Given the description of an element on the screen output the (x, y) to click on. 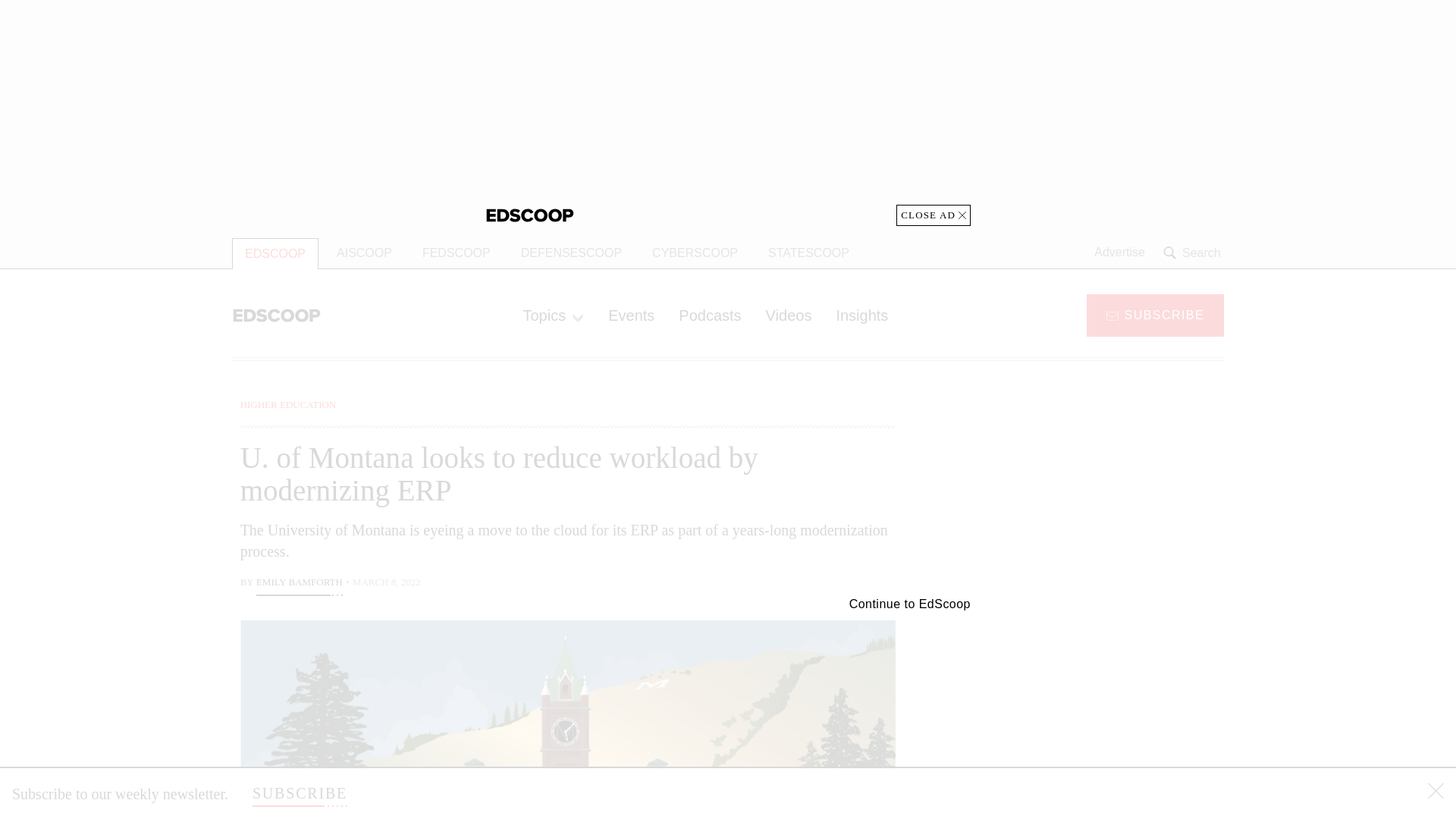
Videos (789, 315)
SUBSCRIBE (1155, 314)
Search (1193, 252)
Emily Bamforth (299, 583)
Insights (861, 315)
DEFENSESCOOP (570, 253)
3rd party ad content (1101, 705)
SUBSCRIBE (299, 793)
HIGHER EDUCATION (288, 404)
Podcasts (709, 315)
Advertise (1119, 252)
STATESCOOP (808, 253)
EMILY BAMFORTH (299, 583)
FEDSCOOP (456, 253)
